Given the description of an element on the screen output the (x, y) to click on. 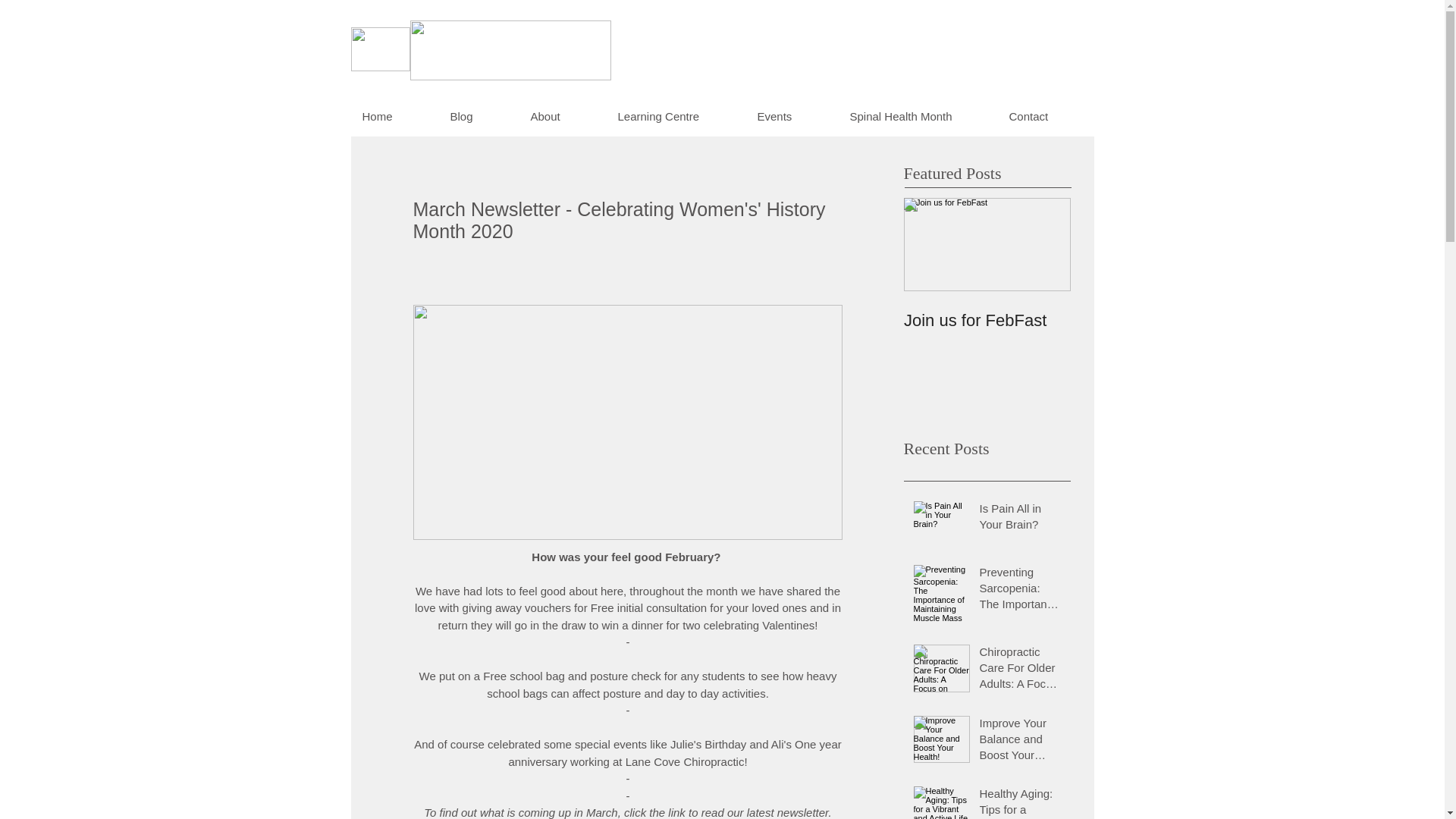
Home (394, 116)
Improve Your Balance and Boost Your Health! (1020, 741)
About (561, 116)
Lane Cove Chiropractic Logo.png (379, 49)
Join us for FebFast (987, 320)
Spinal Health Month (917, 116)
Healthy Aging: Tips for a Vibrant and Active Life (1020, 802)
Learning Centre (676, 116)
Blog (478, 116)
